Given the description of an element on the screen output the (x, y) to click on. 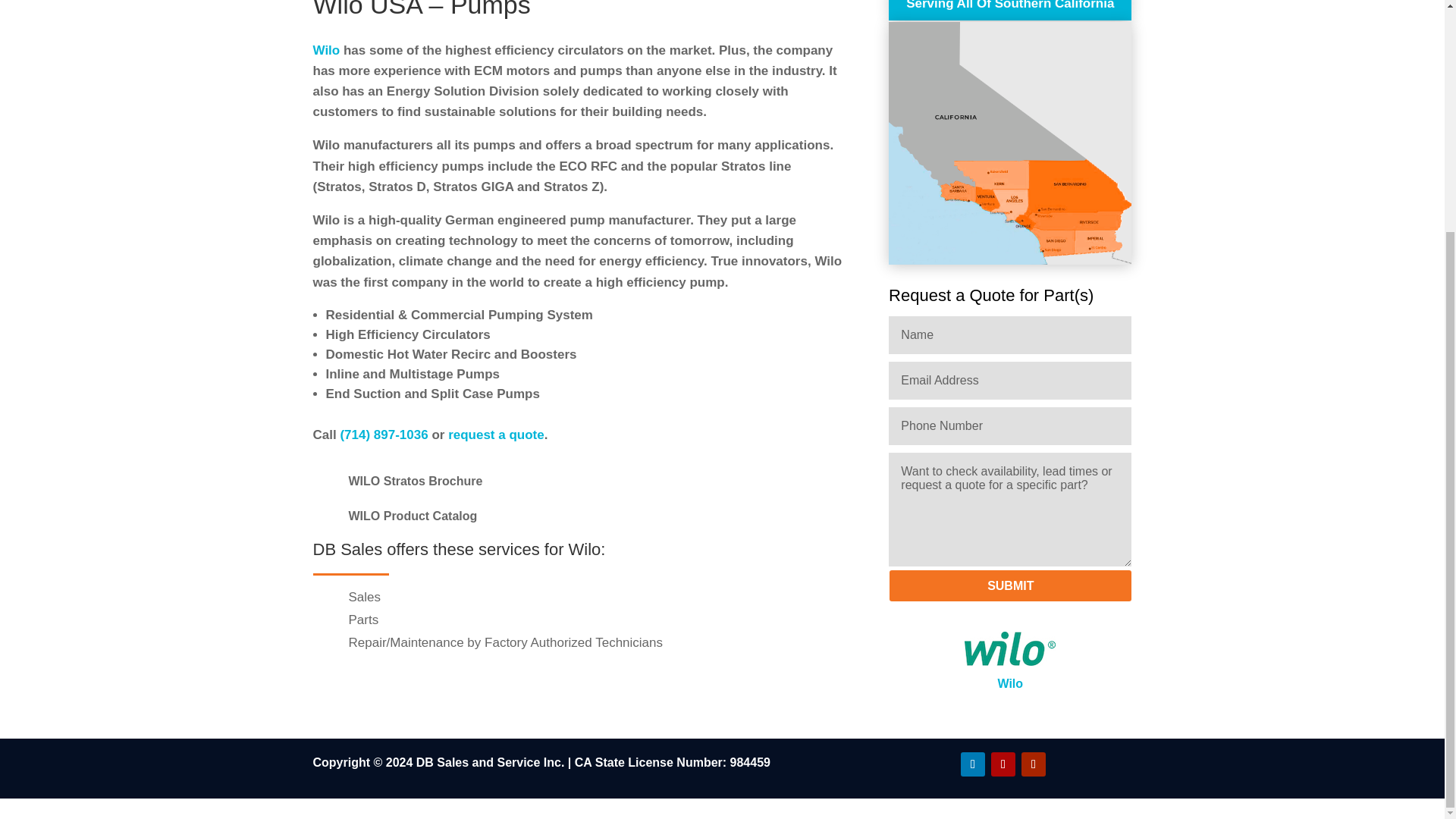
Follow on Yelp (1002, 764)
Wilo (1009, 648)
Follow on Youtube (1033, 764)
Follow on LinkedIn (972, 764)
